Given the description of an element on the screen output the (x, y) to click on. 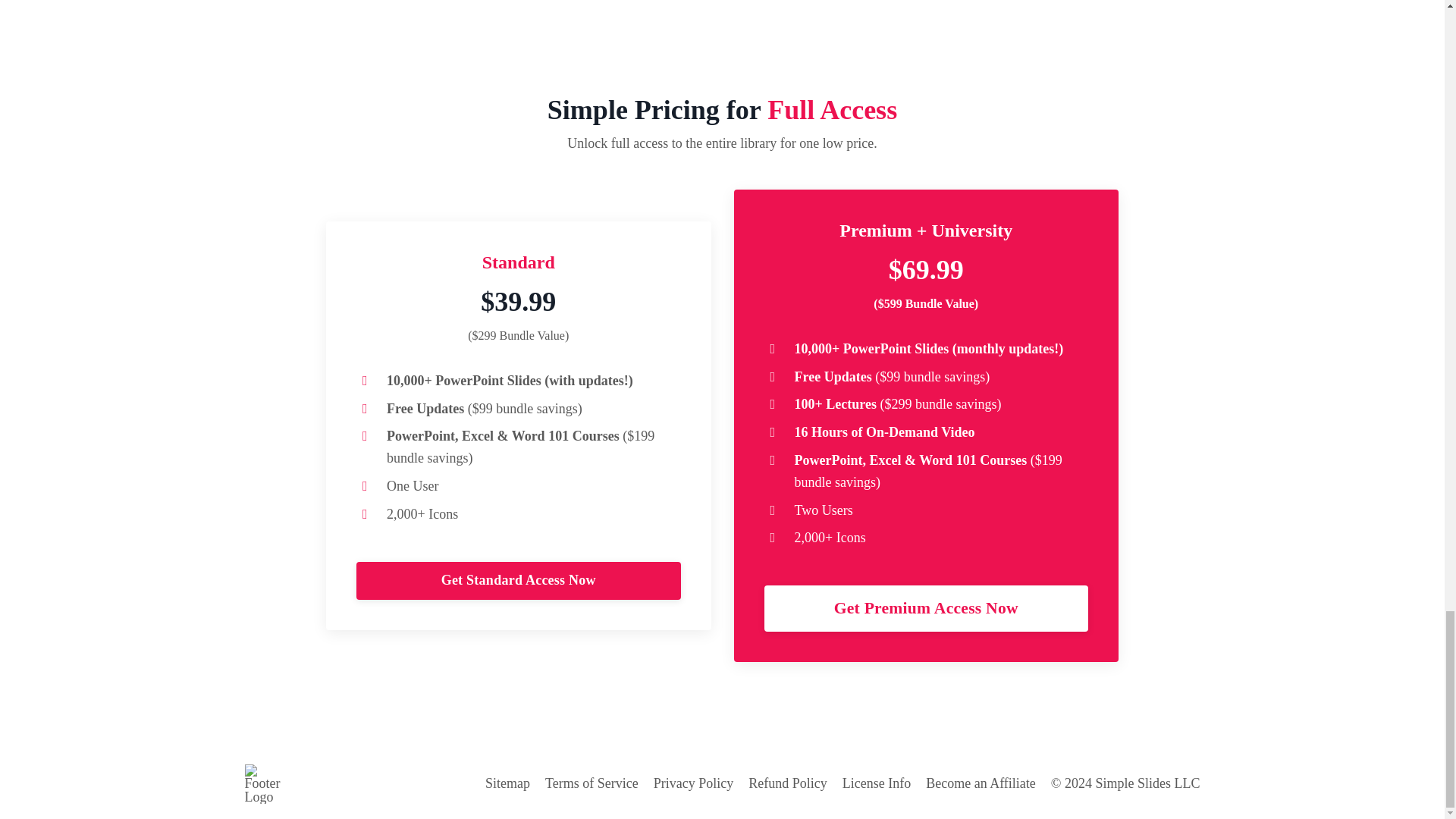
Get Premium Access Now (926, 607)
Sitemap (506, 783)
Get Standard Access Now (518, 580)
License Info (877, 783)
Become an Affiliate (980, 783)
Refund Policy (787, 783)
Terms of Service (591, 783)
Privacy Policy (693, 783)
